Given the description of an element on the screen output the (x, y) to click on. 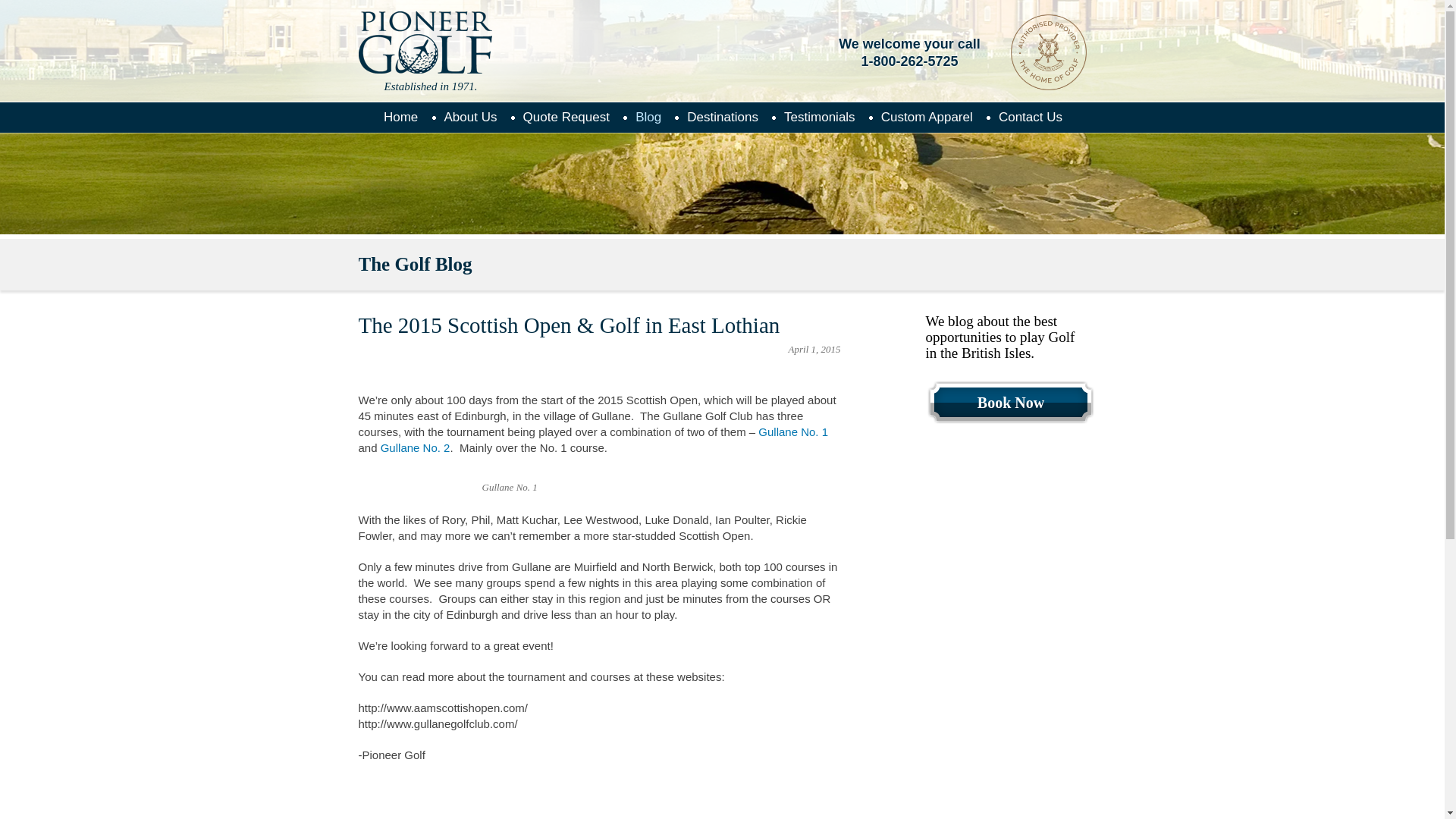
 Gullane No. 1 (791, 431)
Destinations (721, 117)
Gullane No. 2 (414, 447)
Contact Us (1030, 117)
Home (399, 117)
Custom Apparel (926, 117)
Quote Request (565, 117)
About Us (470, 117)
Testimonials (818, 117)
Blog (647, 117)
